Given the description of an element on the screen output the (x, y) to click on. 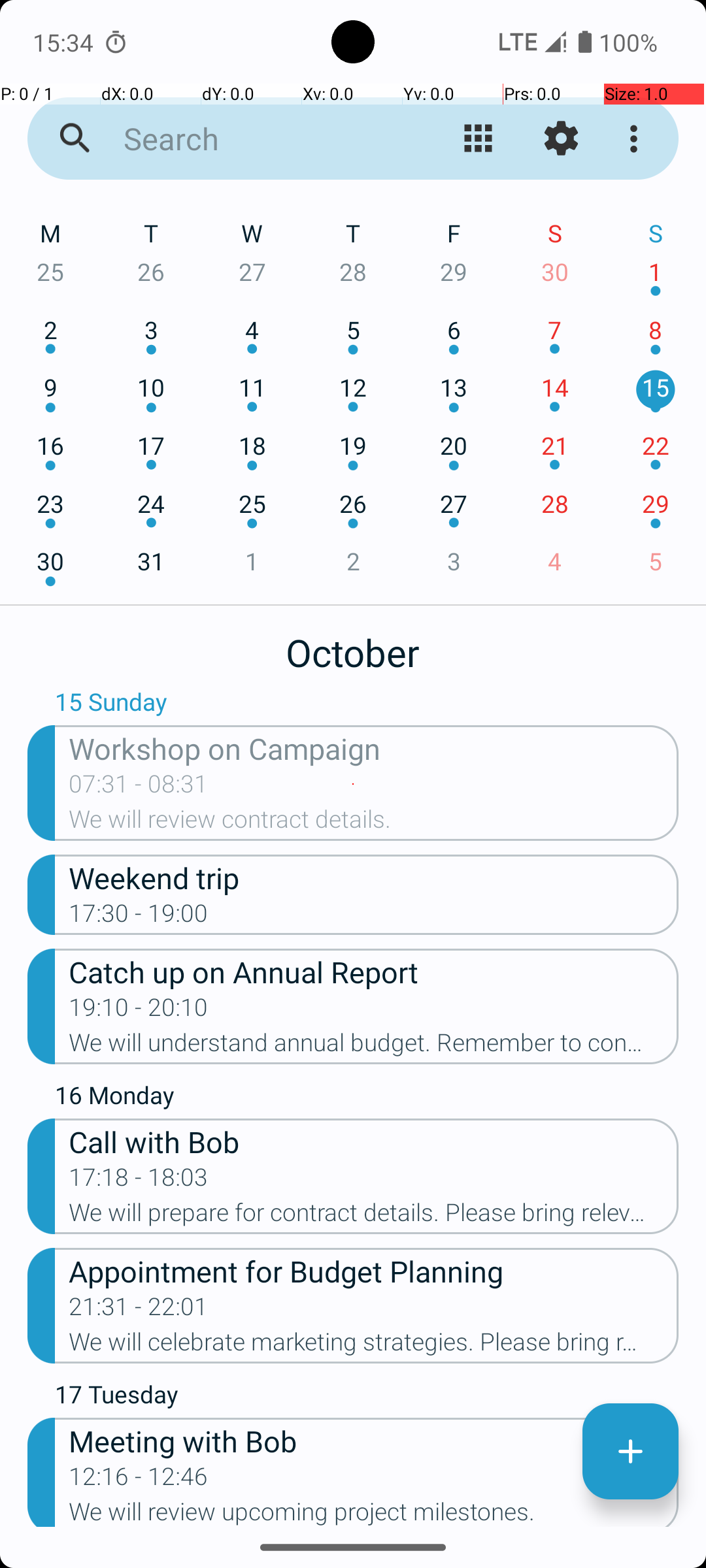
07:31 - 08:31 Element type: android.widget.TextView (137, 787)
We will review contract details. Element type: android.widget.TextView (373, 822)
Weekend trip Element type: android.widget.TextView (373, 876)
17:30 - 19:00 Element type: android.widget.TextView (137, 916)
19:10 - 20:10 Element type: android.widget.TextView (137, 1045)
We will understand annual budget. Remember to confirm attendance. Element type: android.widget.TextView (373, 1046)
17:18 - 18:03 Element type: android.widget.TextView (137, 1180)
We will prepare for contract details. Please bring relevant documents. Element type: android.widget.TextView (373, 1216)
21:31 - 22:01 Element type: android.widget.TextView (137, 1310)
We will celebrate marketing strategies. Please bring relevant documents. Element type: android.widget.TextView (373, 1345)
12:16 - 12:46 Element type: android.widget.TextView (137, 1480)
We will review upcoming project milestones. Element type: android.widget.TextView (373, 1512)
